Given the description of an element on the screen output the (x, y) to click on. 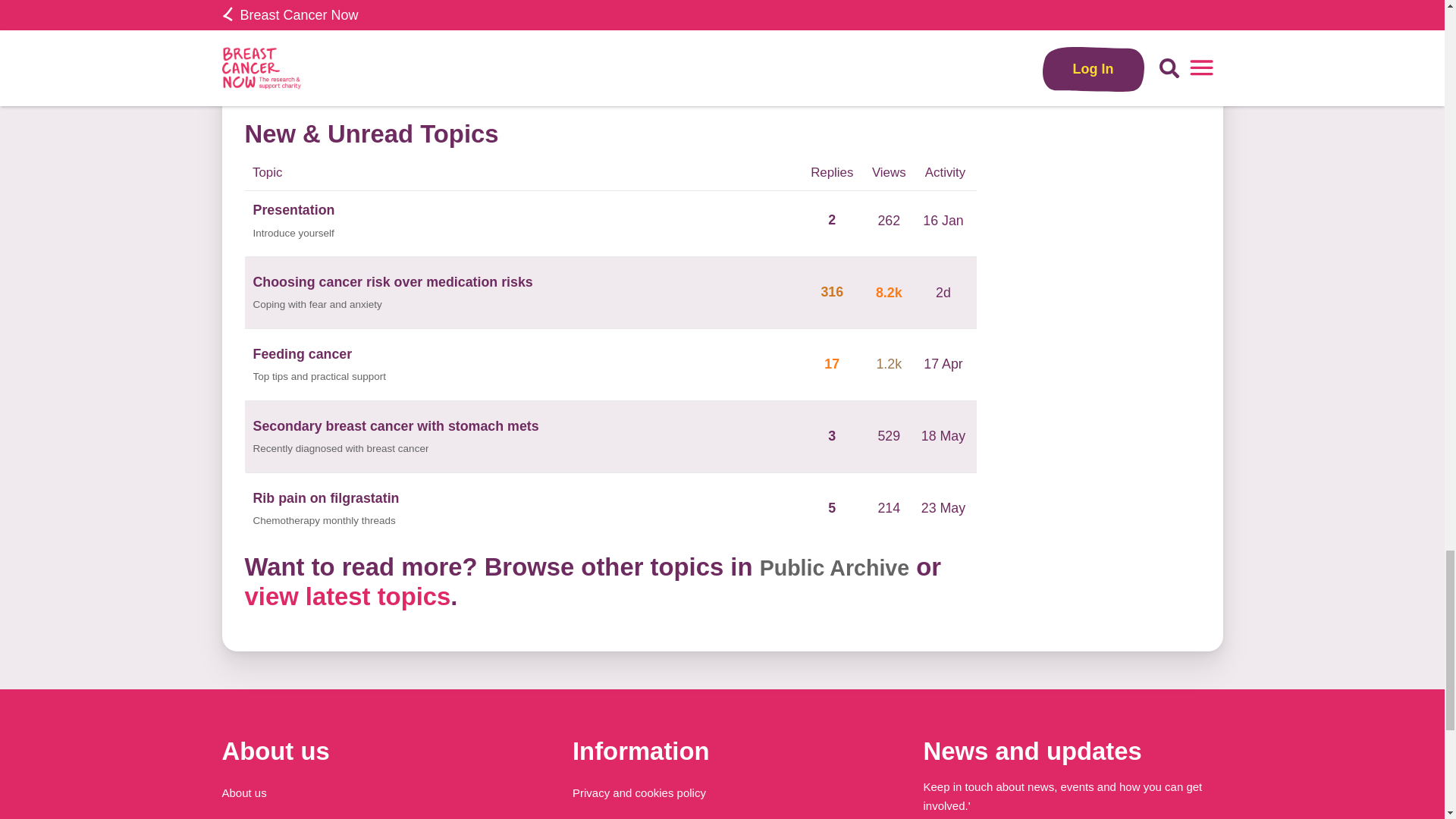
Reply (767, 62)
Introduce yourself (293, 233)
Coping with fear and anxiety (317, 304)
17 Apr (943, 363)
Top tips and practical support (320, 376)
Feeding cancer (302, 353)
16 Jan (942, 220)
Presentation (293, 209)
Choosing cancer risk over medication risks (392, 281)
